Given the description of an element on the screen output the (x, y) to click on. 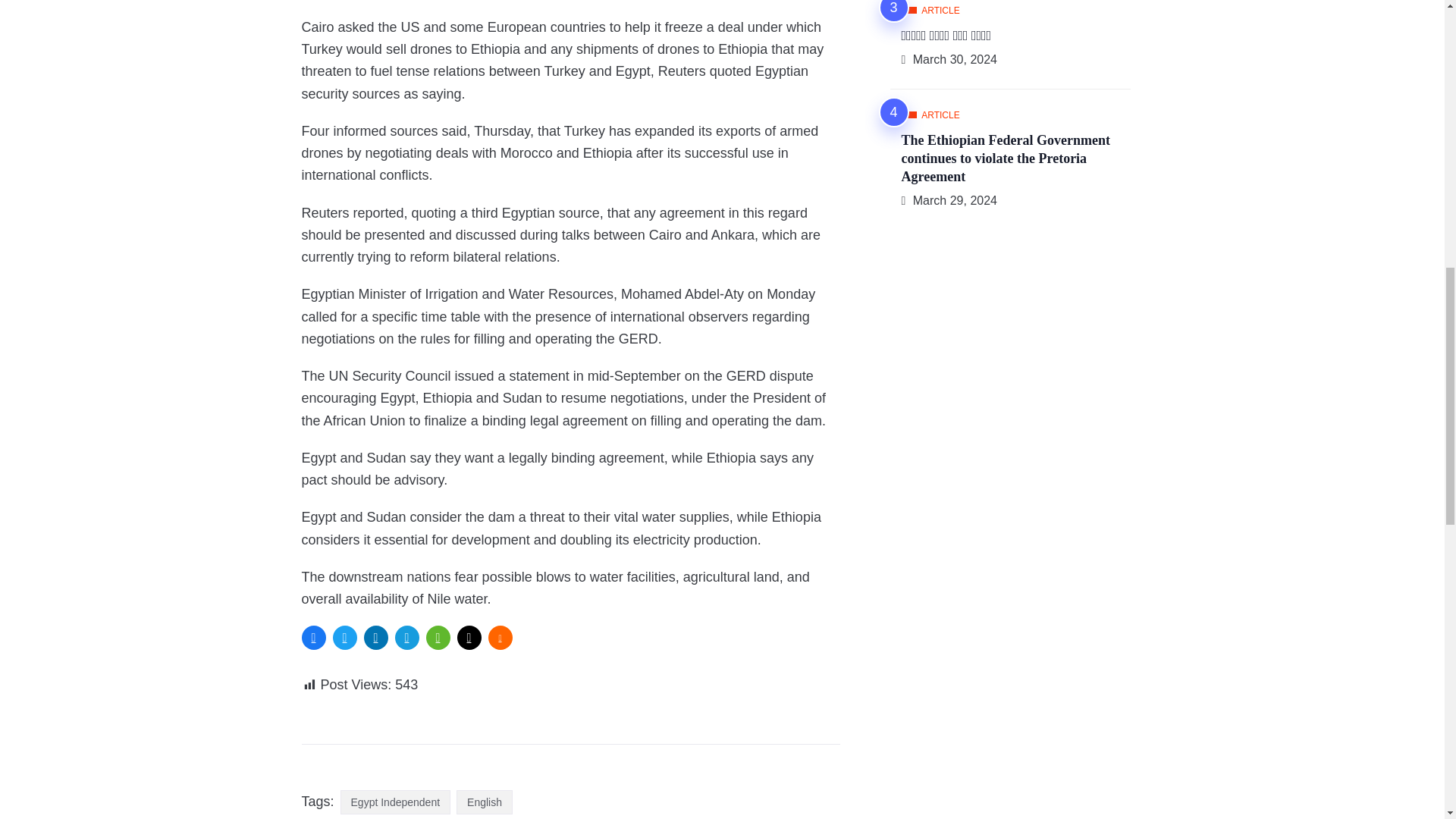
WhatsApp (437, 637)
Telegram (406, 637)
Tweet this ! (343, 637)
Add this to LinkedIn (376, 637)
Share this on Facebook (313, 637)
More share links (499, 637)
Email this  (468, 637)
